Given the description of an element on the screen output the (x, y) to click on. 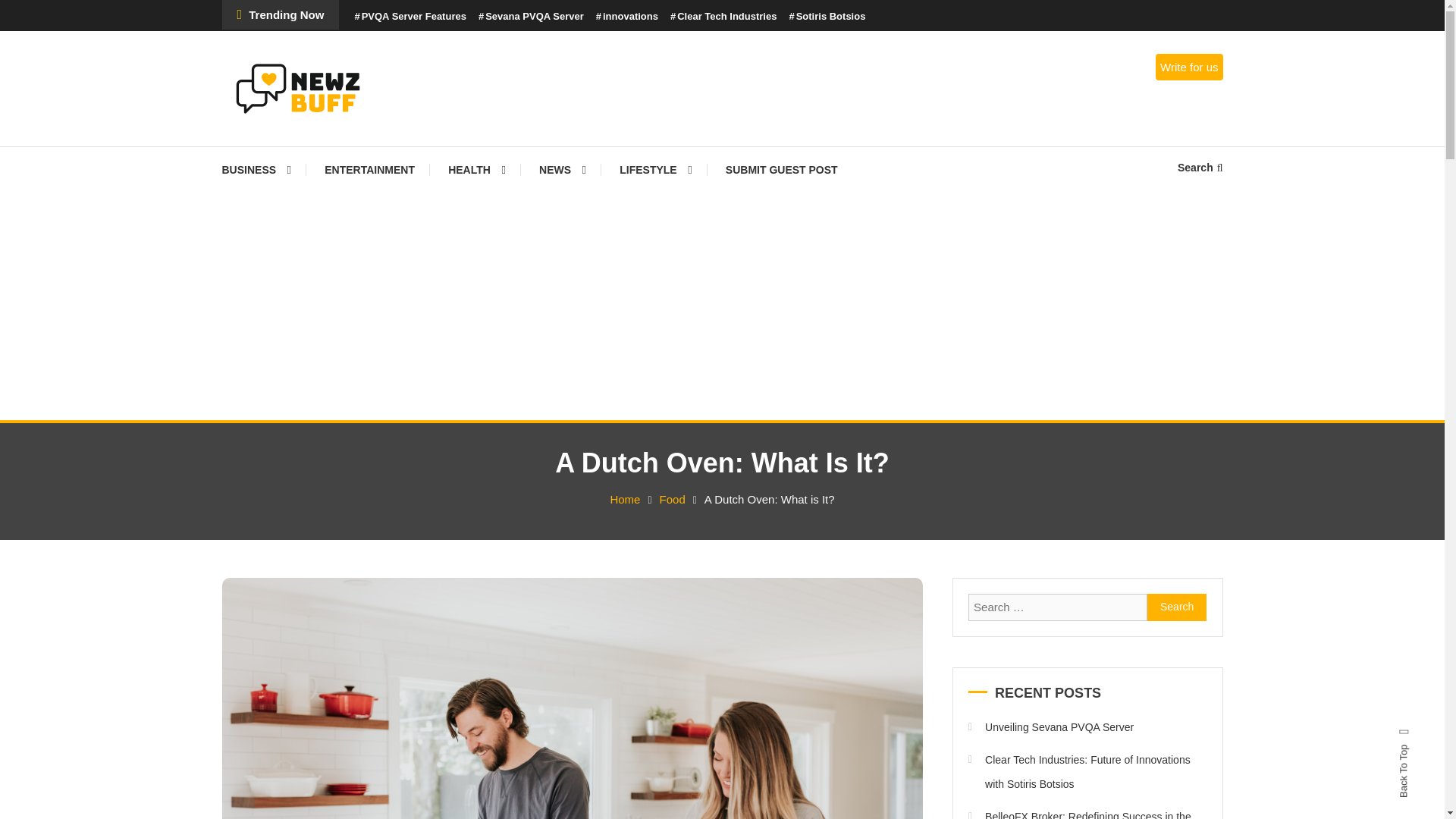
Clear Tech Industries (722, 16)
BUSINESS (263, 169)
Food (672, 499)
ENTERTAINMENT (368, 169)
HEALTH (476, 169)
SUBMIT GUEST POST (781, 169)
Search (1177, 606)
Sotiris Botsios (826, 16)
NEWS (562, 169)
